Given the description of an element on the screen output the (x, y) to click on. 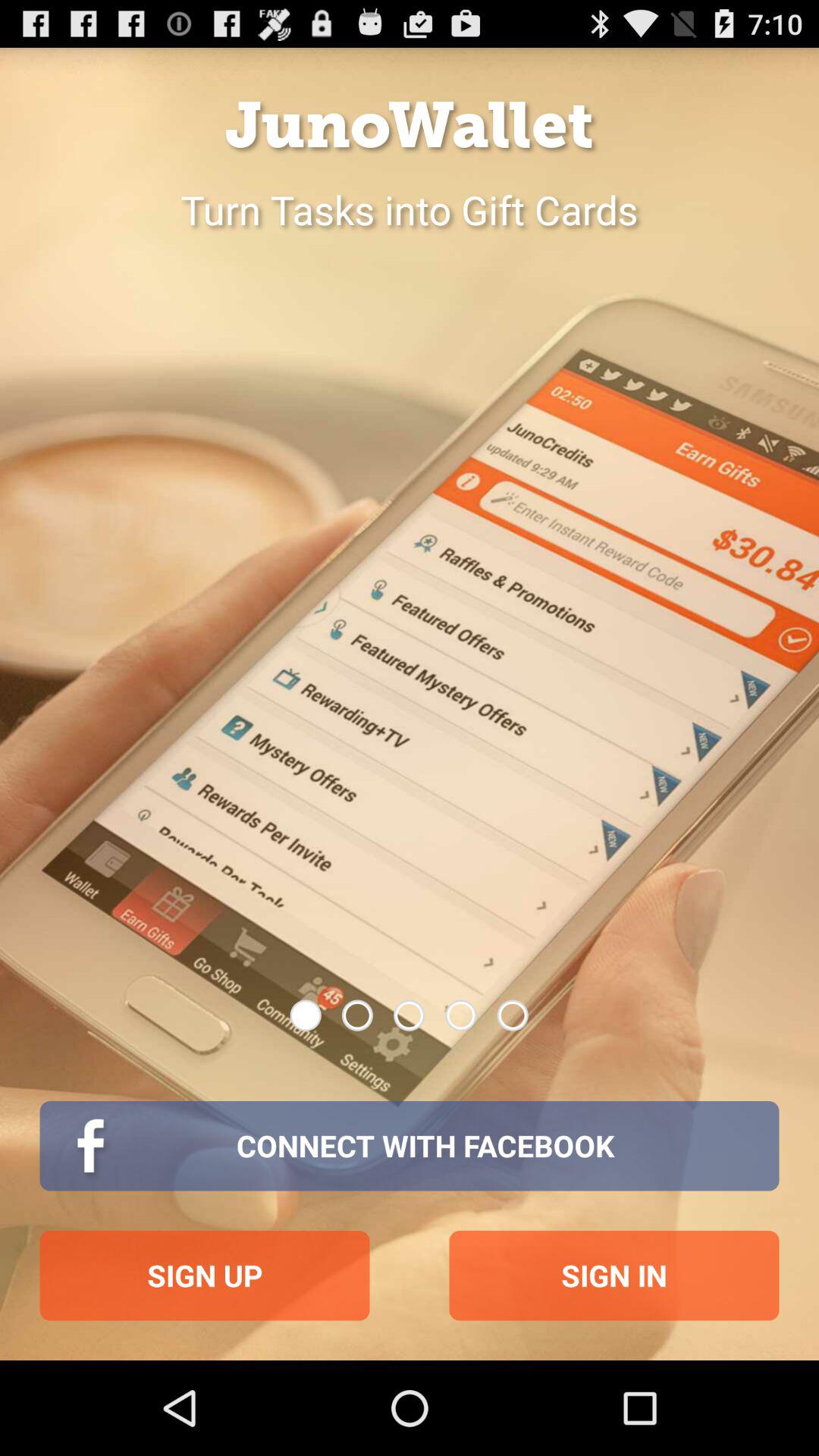
open the button below connect with facebook (204, 1275)
